Given the description of an element on the screen output the (x, y) to click on. 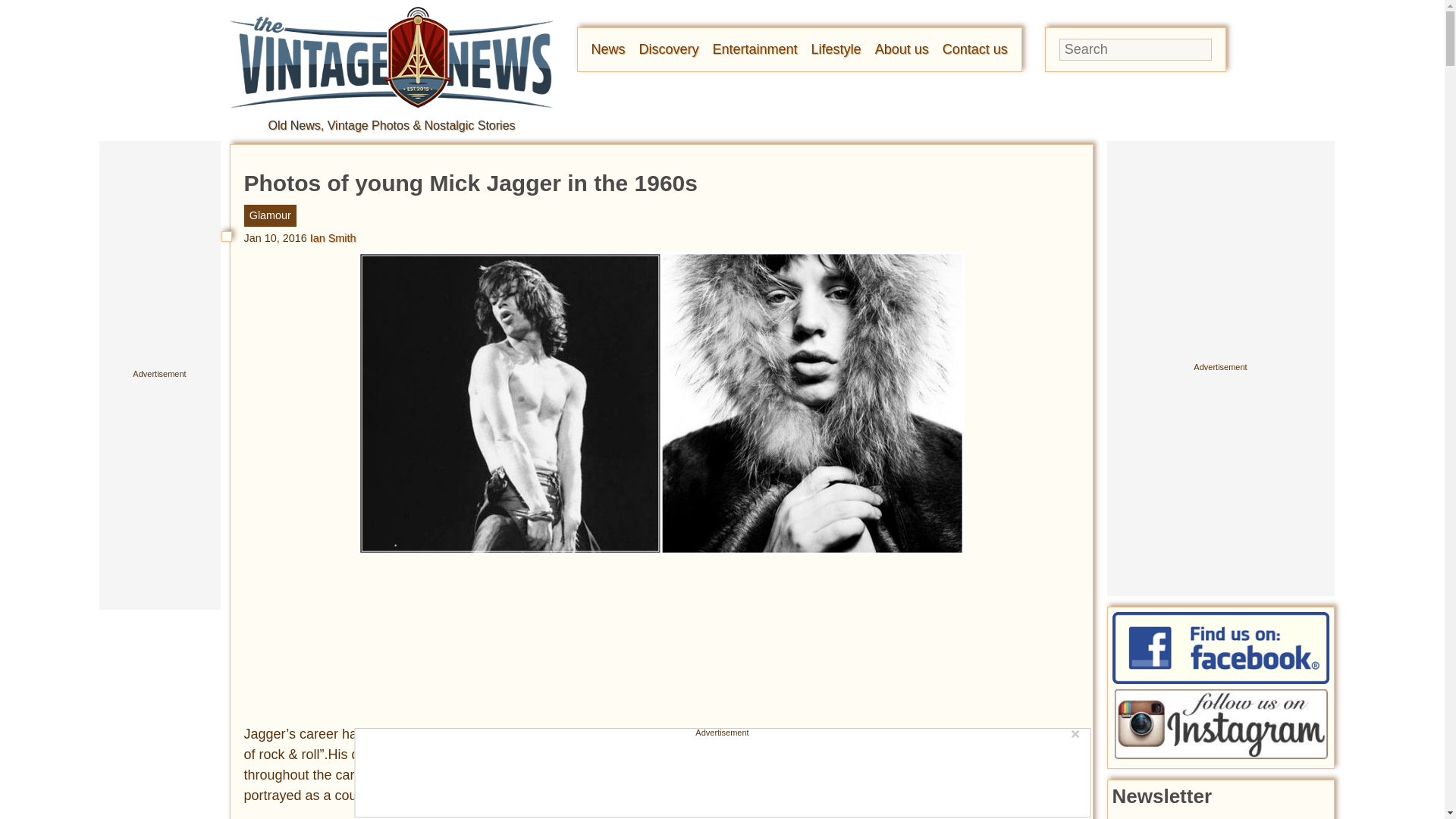
Entertainment (755, 48)
News (608, 48)
About us (901, 48)
Contact us (974, 48)
Lifestyle (835, 48)
Discovery (668, 48)
